Given the description of an element on the screen output the (x, y) to click on. 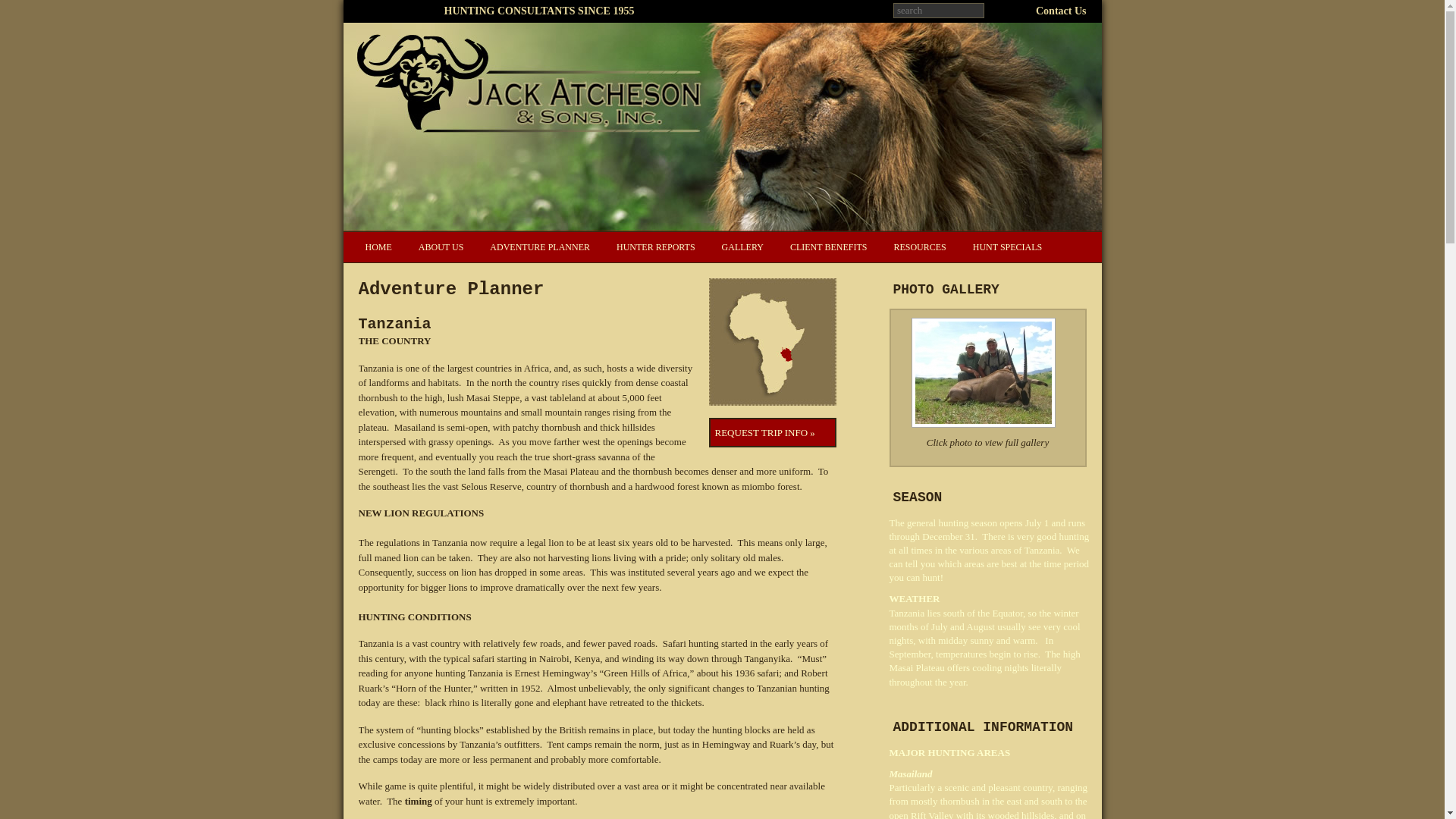
Contact Us (1060, 11)
HUNTER REPORTS (658, 246)
GALLERY (744, 246)
RESOURCES (921, 246)
HUNT SPECIALS (1010, 246)
CLIENT BENEFITS (830, 246)
HOME (381, 246)
ABOUT US (443, 246)
Hunter Reports (658, 246)
ADVENTURE PLANNER (542, 246)
